Given the description of an element on the screen output the (x, y) to click on. 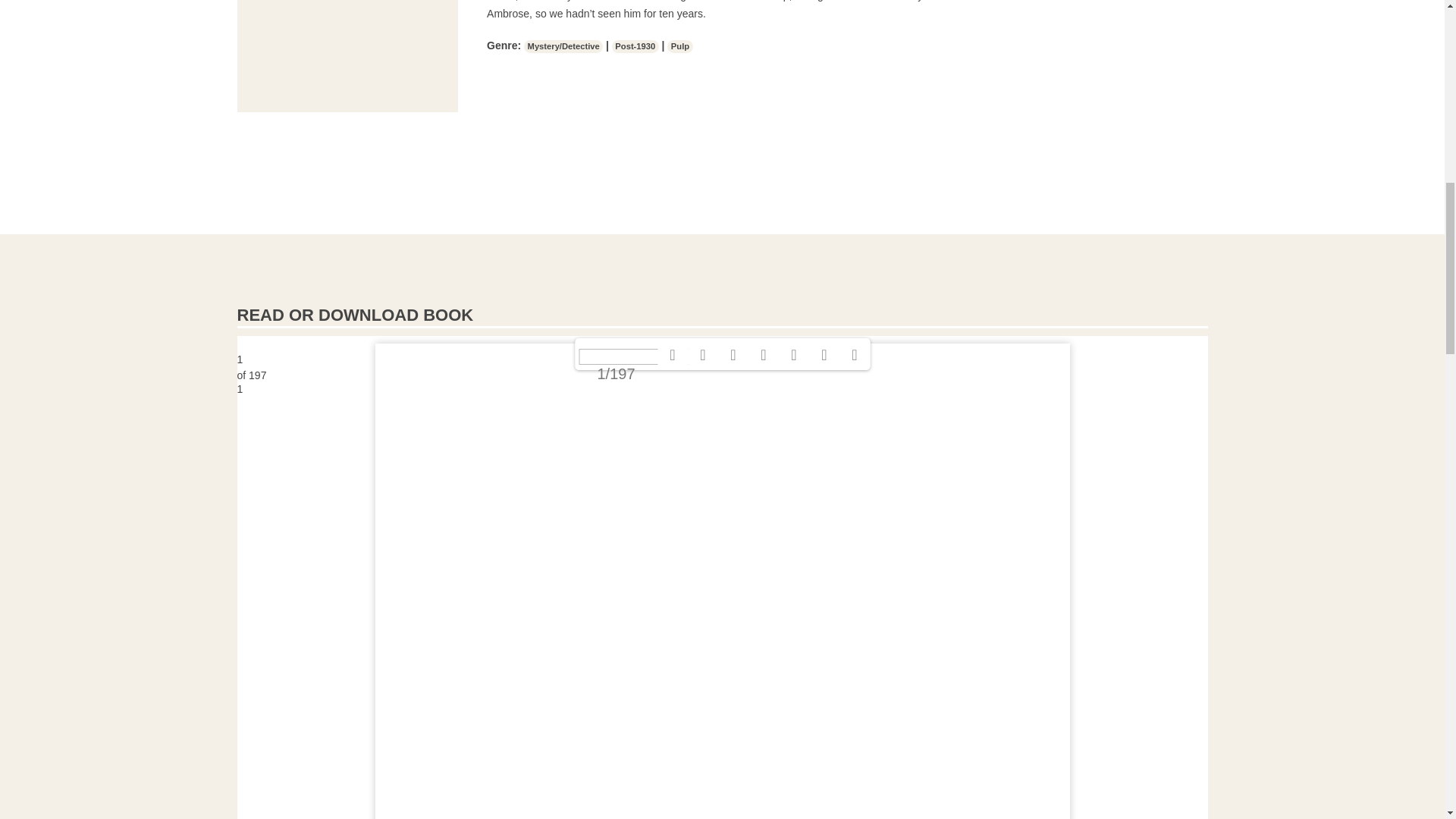
Advertisement (347, 56)
Pulp (679, 46)
1 (721, 389)
Post-1930 (635, 46)
